Given the description of an element on the screen output the (x, y) to click on. 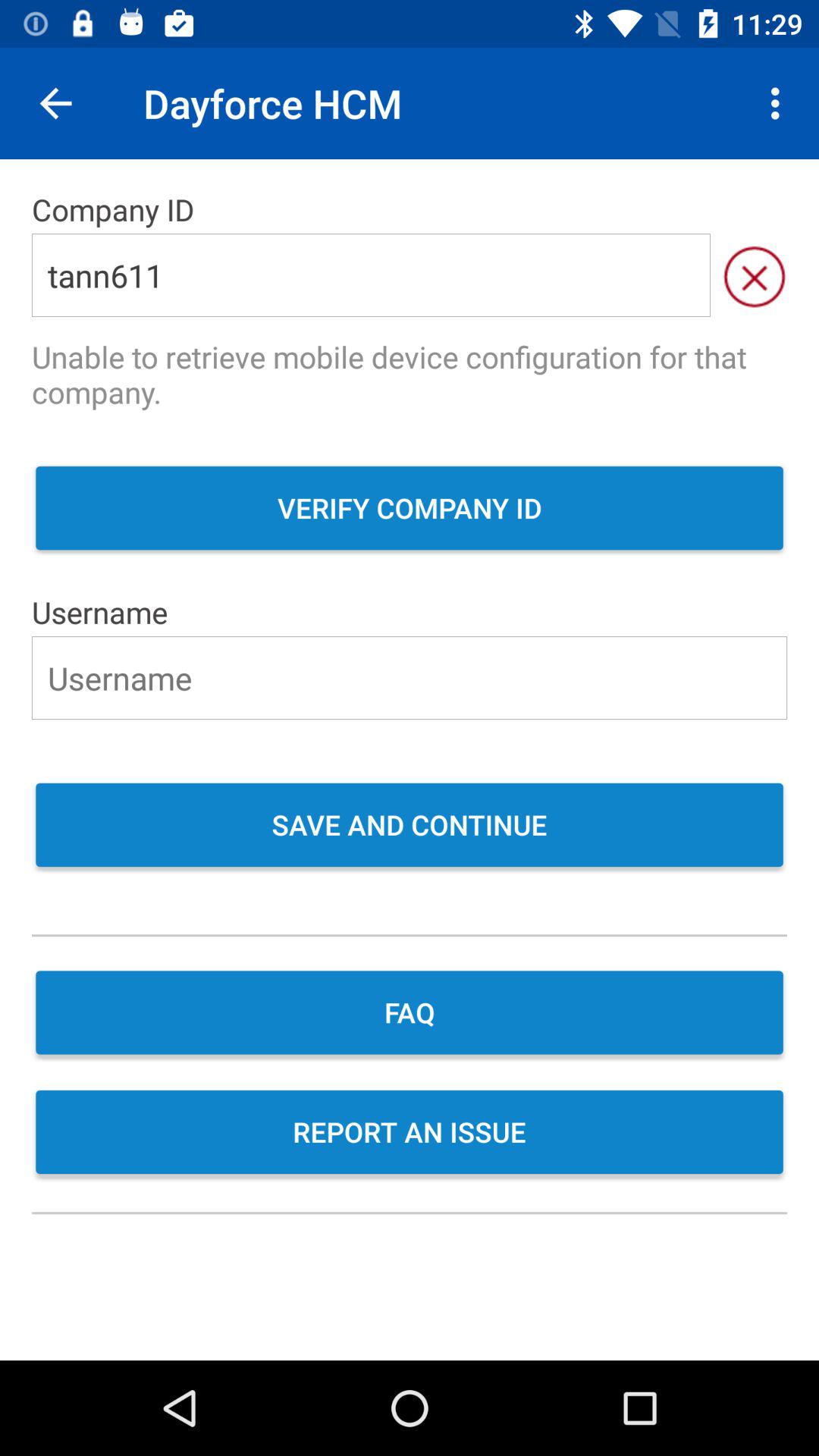
press the icon below the company id item (753, 274)
